Given the description of an element on the screen output the (x, y) to click on. 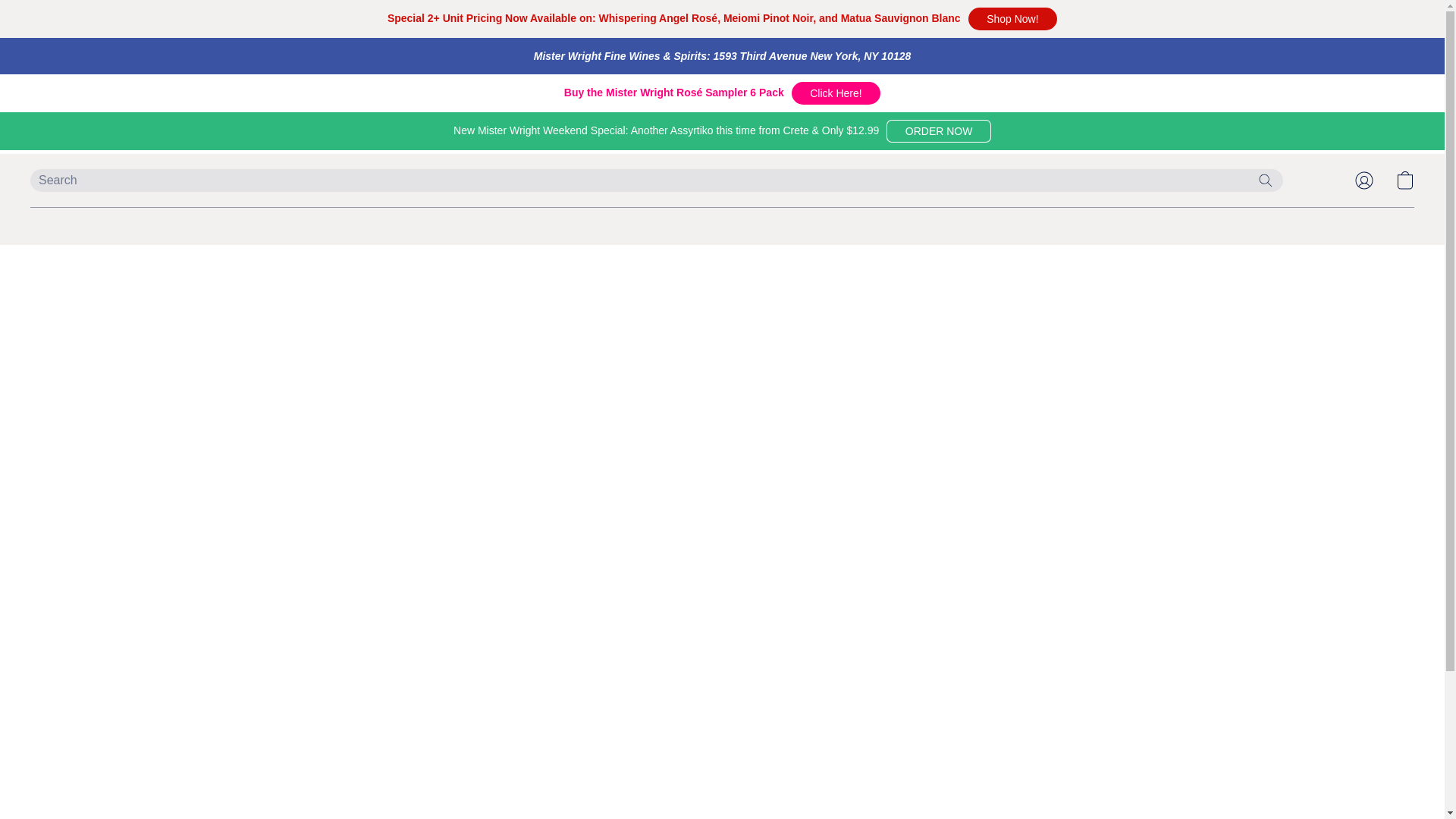
ORDER NOW (938, 130)
Shop Now! (1012, 18)
Click Here! (836, 92)
Go to your shopping cart (1404, 180)
